Given the description of an element on the screen output the (x, y) to click on. 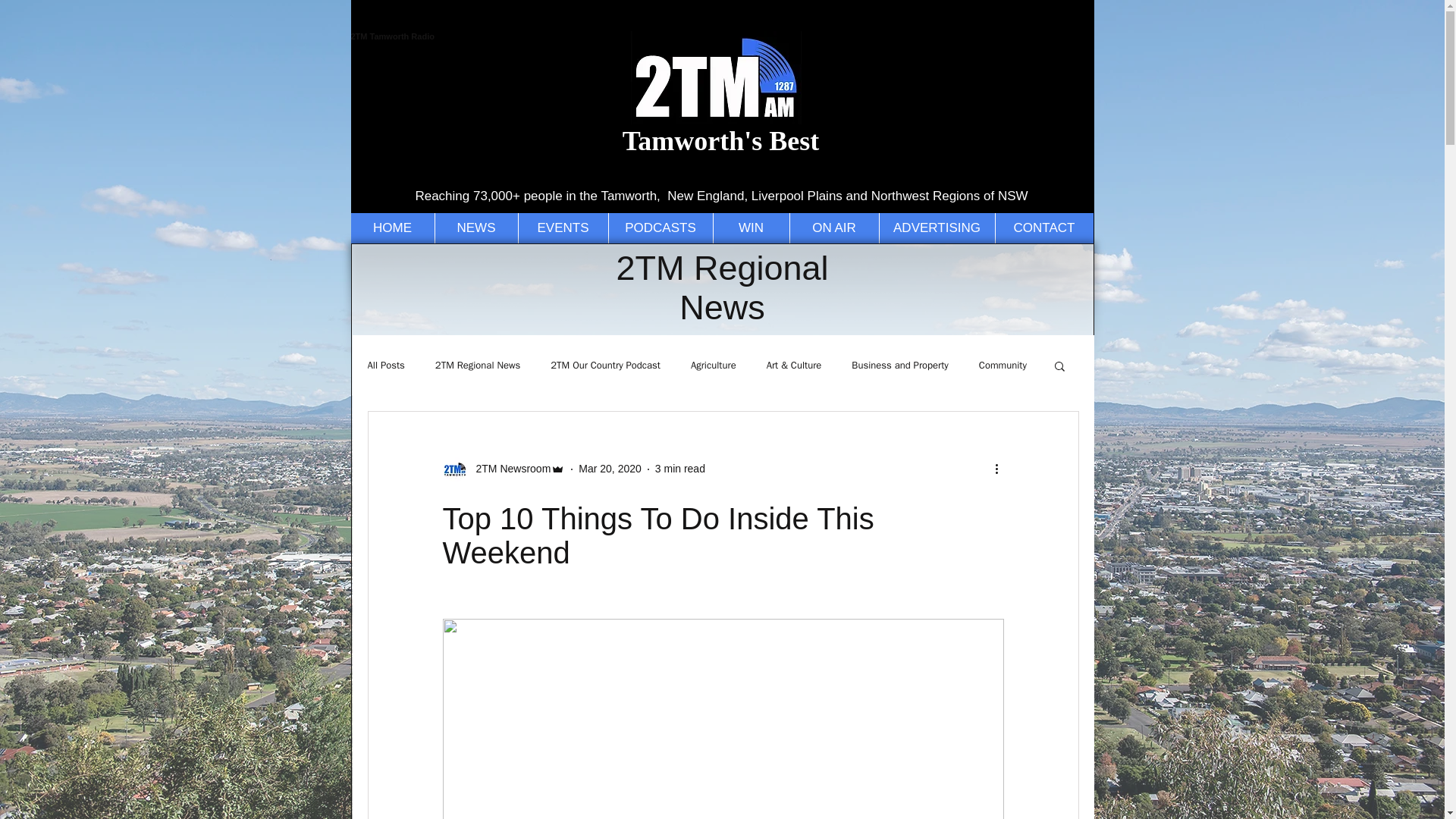
3 min read (679, 468)
Agriculture (713, 365)
Mar 20, 2020 (610, 468)
2TM Regional News (477, 365)
2TM Our Country Podcast (605, 365)
All Posts (385, 365)
Business and Property (899, 365)
2TM Newsroom (509, 468)
HOME (391, 227)
Community (1002, 365)
